Given the description of an element on the screen output the (x, y) to click on. 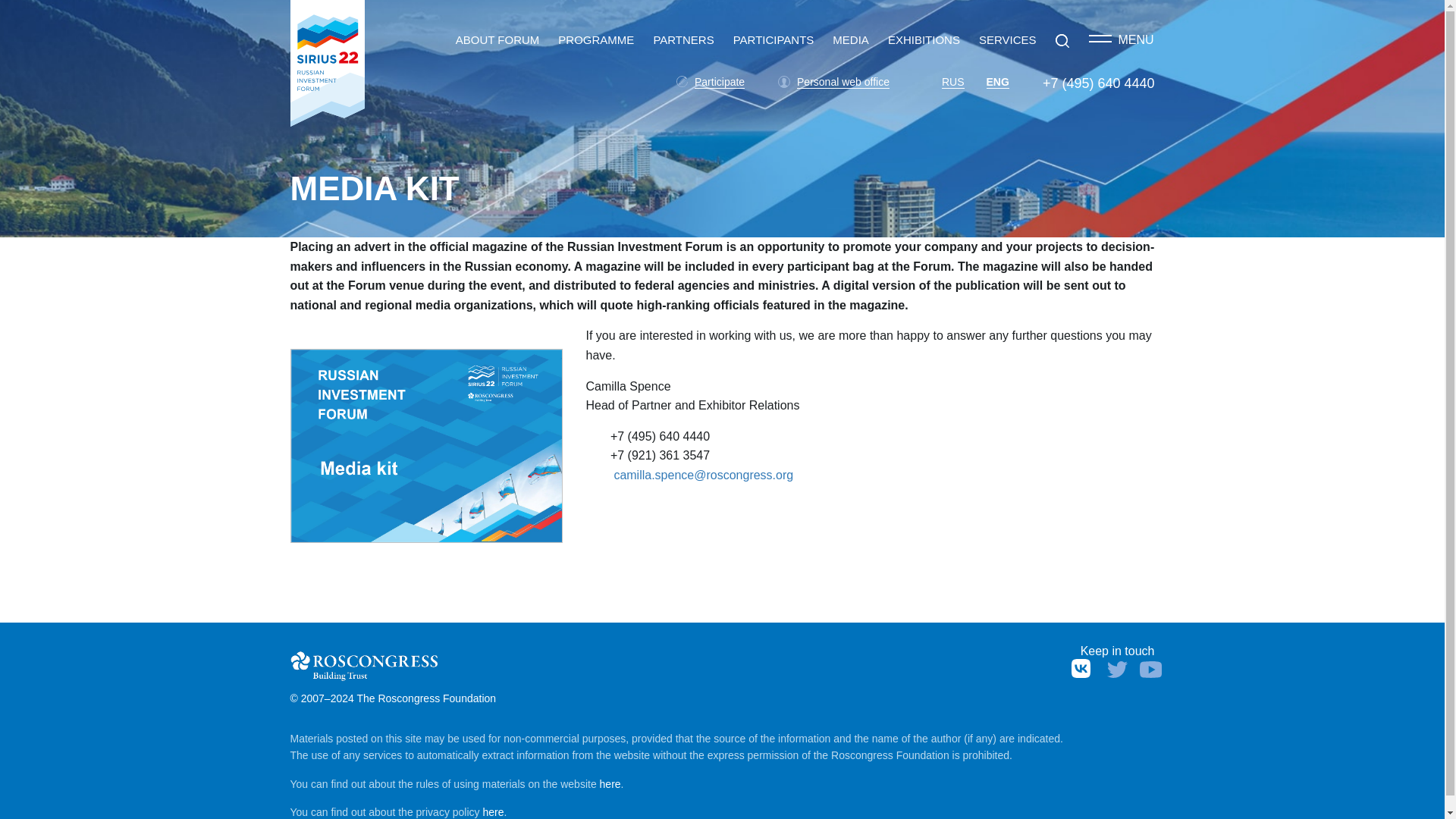
SERVICES (1007, 39)
ABOUT FORUM (497, 39)
PROGRAMME (595, 39)
MEDIA (850, 39)
PARTNERS (682, 39)
PARTICIPANTS (773, 39)
EXHIBITIONS (923, 39)
